Given the description of an element on the screen output the (x, y) to click on. 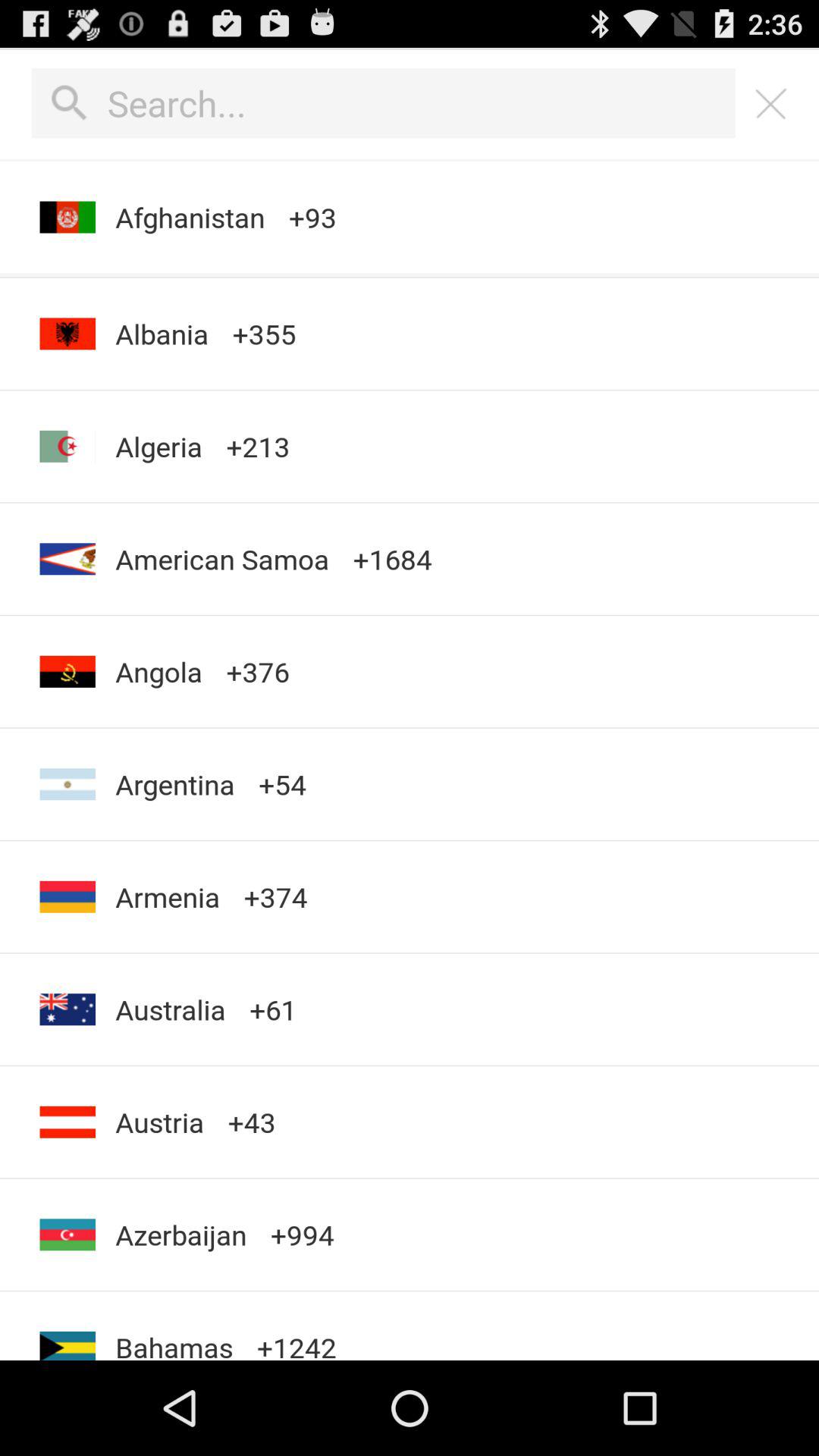
turn on the icon below the +43 (302, 1234)
